Given the description of an element on the screen output the (x, y) to click on. 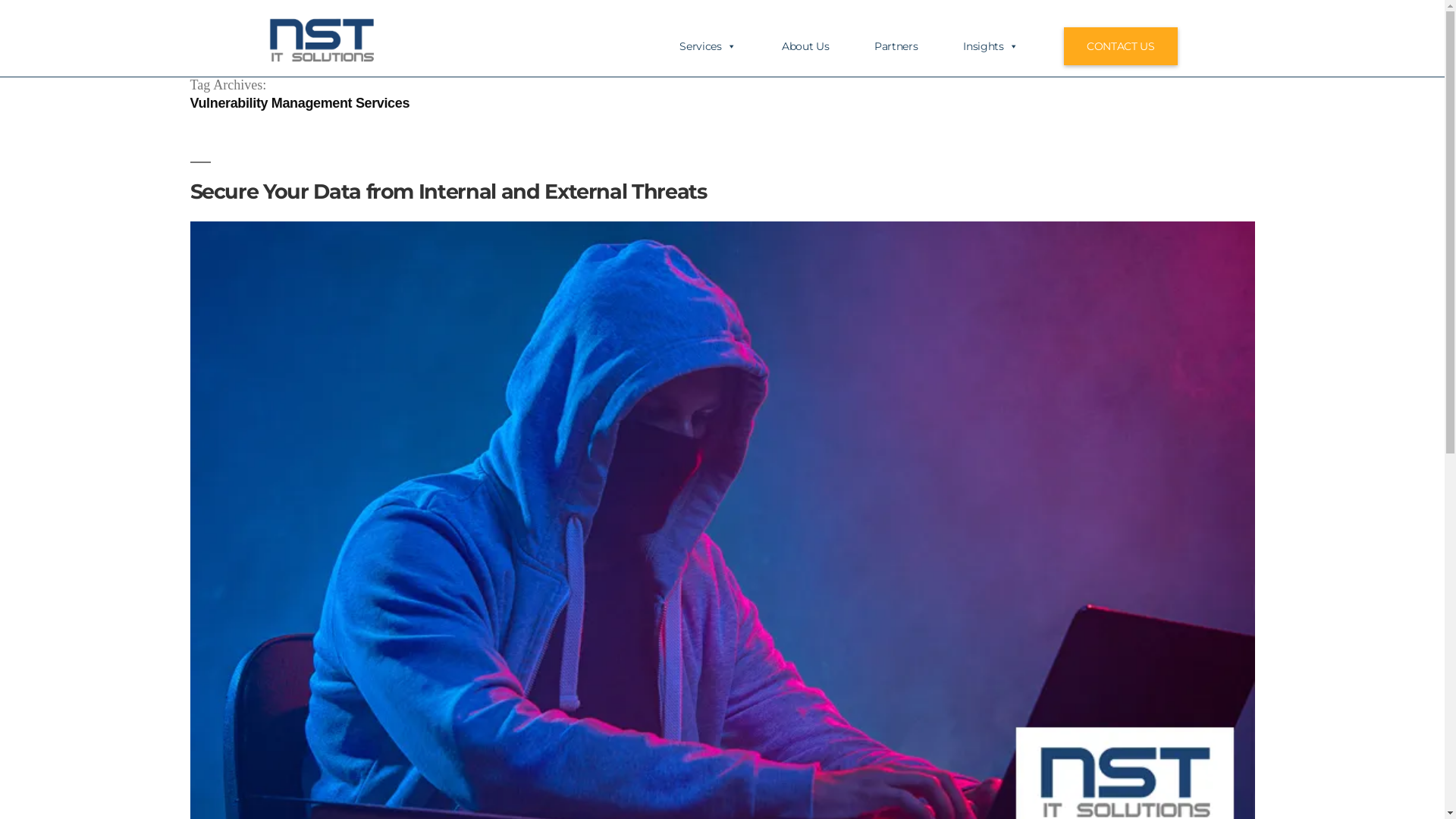
About Us Element type: text (827, 46)
Secure Your Data from Internal and External Threats Element type: text (447, 190)
CONTACT US Element type: text (1119, 46)
Services Element type: text (730, 46)
Partners Element type: text (918, 46)
Insights Element type: text (1013, 46)
